Given the description of an element on the screen output the (x, y) to click on. 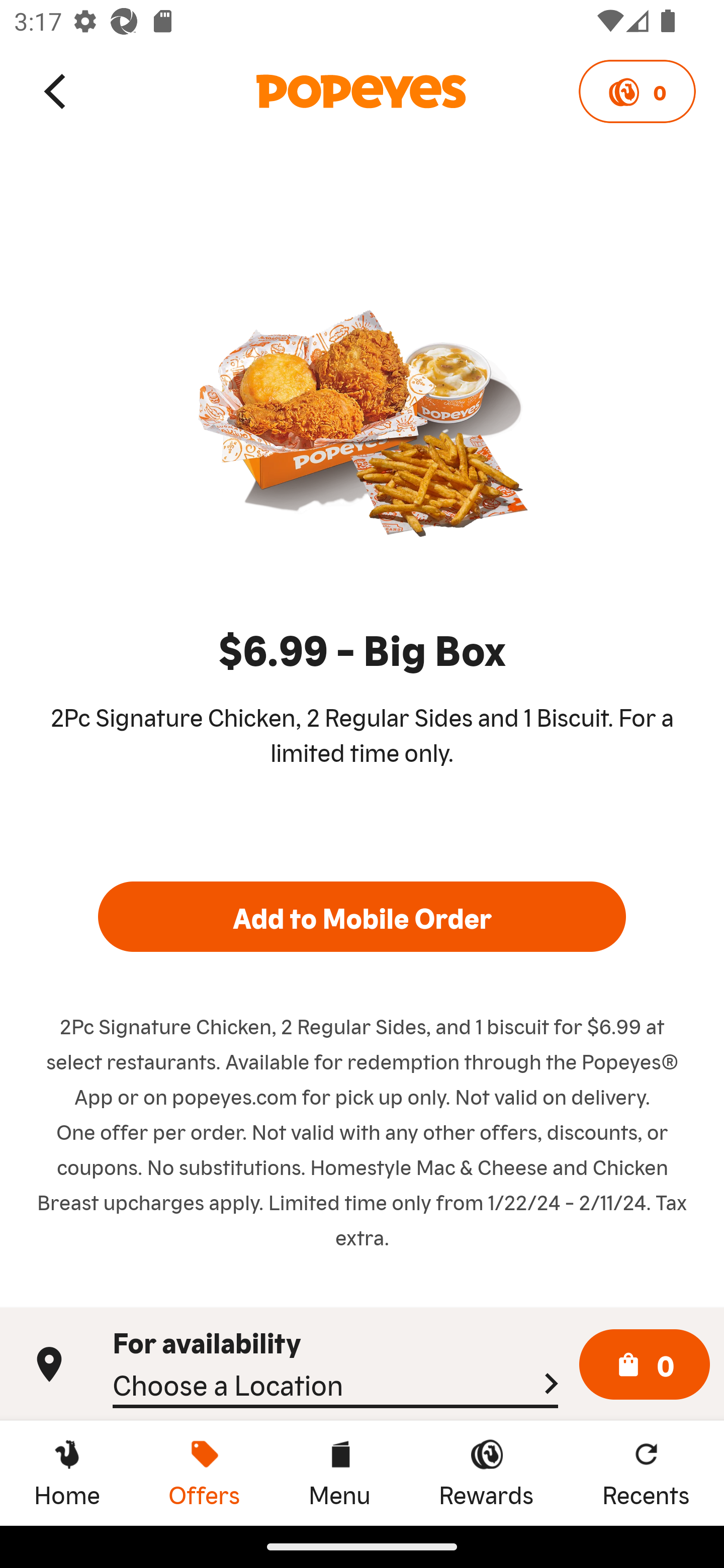
Back (56, 90)
0 Points 0 (636, 91)
Add to Mobile Order (361, 916)
0 Cart total  0 (644, 1364)
Home Home Home (66, 1472)
Offers, current page Offers Offers, current page (203, 1472)
Menu Menu Menu (339, 1472)
Rewards Rewards Rewards (486, 1472)
Recents Recents Recents (646, 1472)
